Given the description of an element on the screen output the (x, y) to click on. 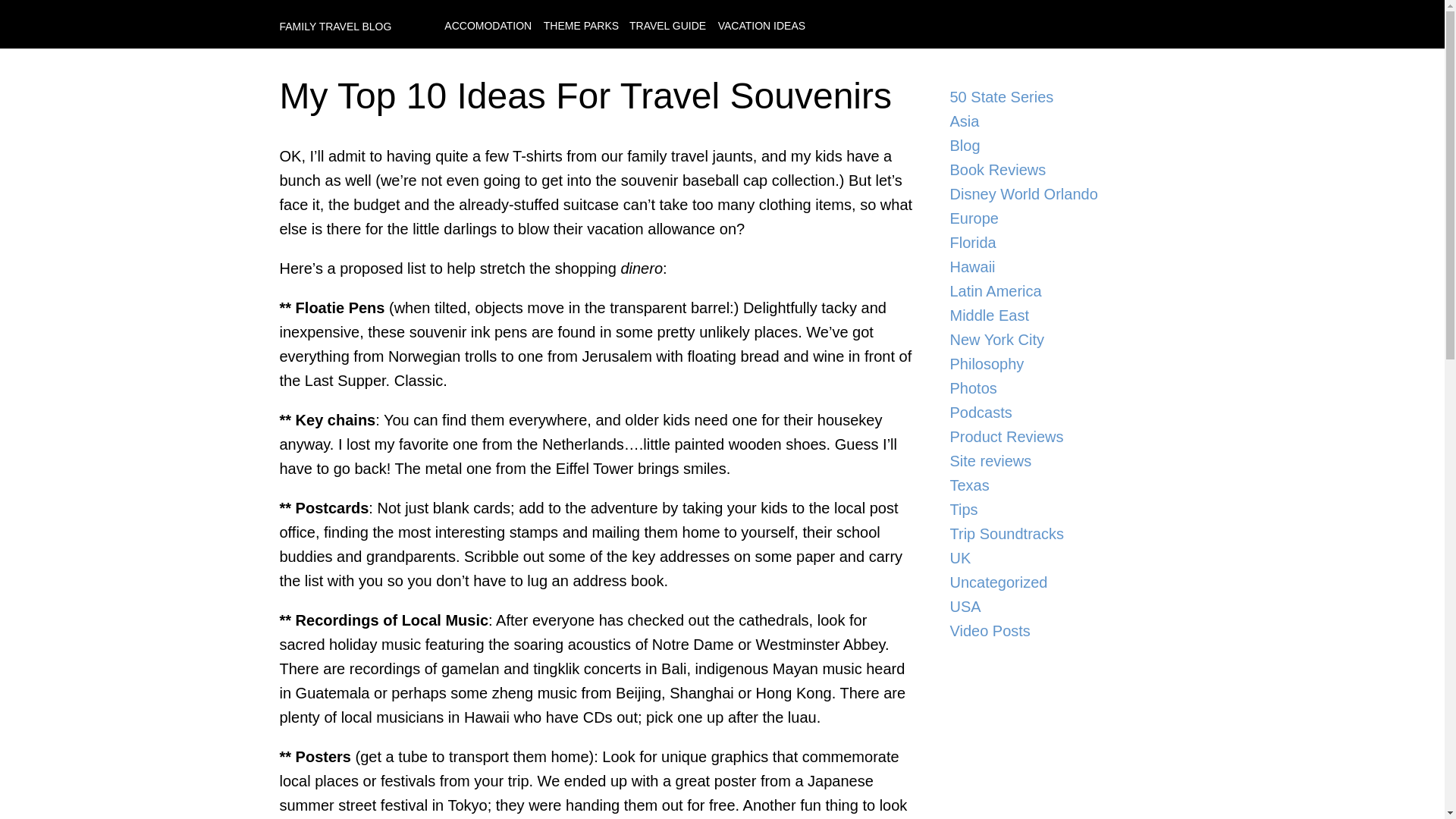
Disney World Orlando (1051, 193)
THEME PARKS (582, 25)
Blog (1051, 145)
TRAVEL GUIDE (667, 25)
New York City (1051, 339)
Uncategorized (1051, 582)
Site reviews (1051, 460)
FAMILY TRAVEL BLOG (335, 26)
Philosophy (1051, 363)
Florida (1051, 242)
Middle East (1051, 315)
Book Reviews (1051, 169)
Video Posts (1051, 630)
Product Reviews (1051, 436)
Texas (1051, 485)
